Given the description of an element on the screen output the (x, y) to click on. 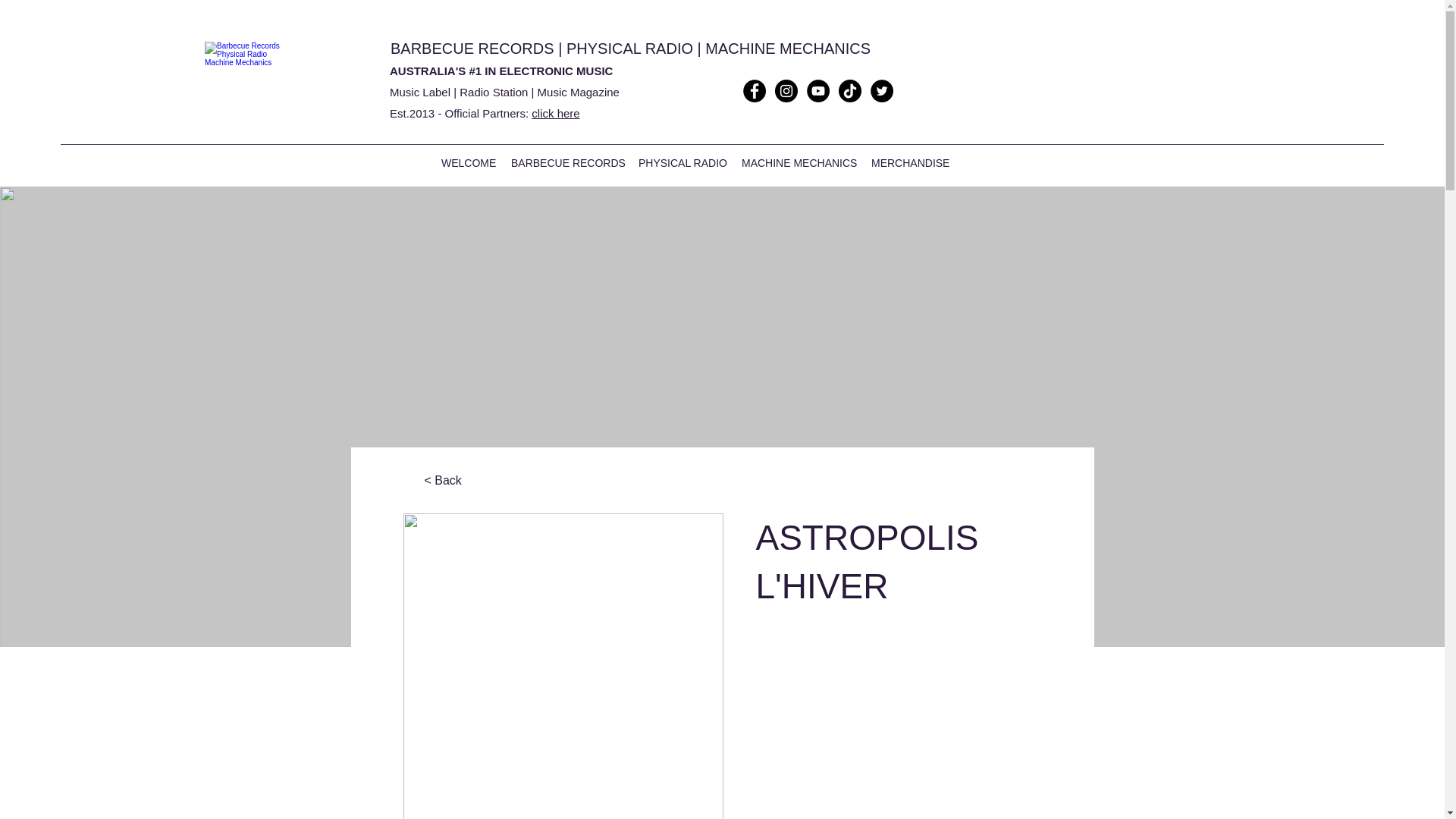
PHYSICAL RADIO (681, 162)
MACHINE MECHANICS (787, 48)
WELCOME (468, 162)
BARBECUE RECORDS (566, 162)
MACHINE MECHANICS (798, 162)
PHYSICAL RADIO (629, 48)
BARBECUE RECORDS (472, 48)
click here (555, 113)
